Given the description of an element on the screen output the (x, y) to click on. 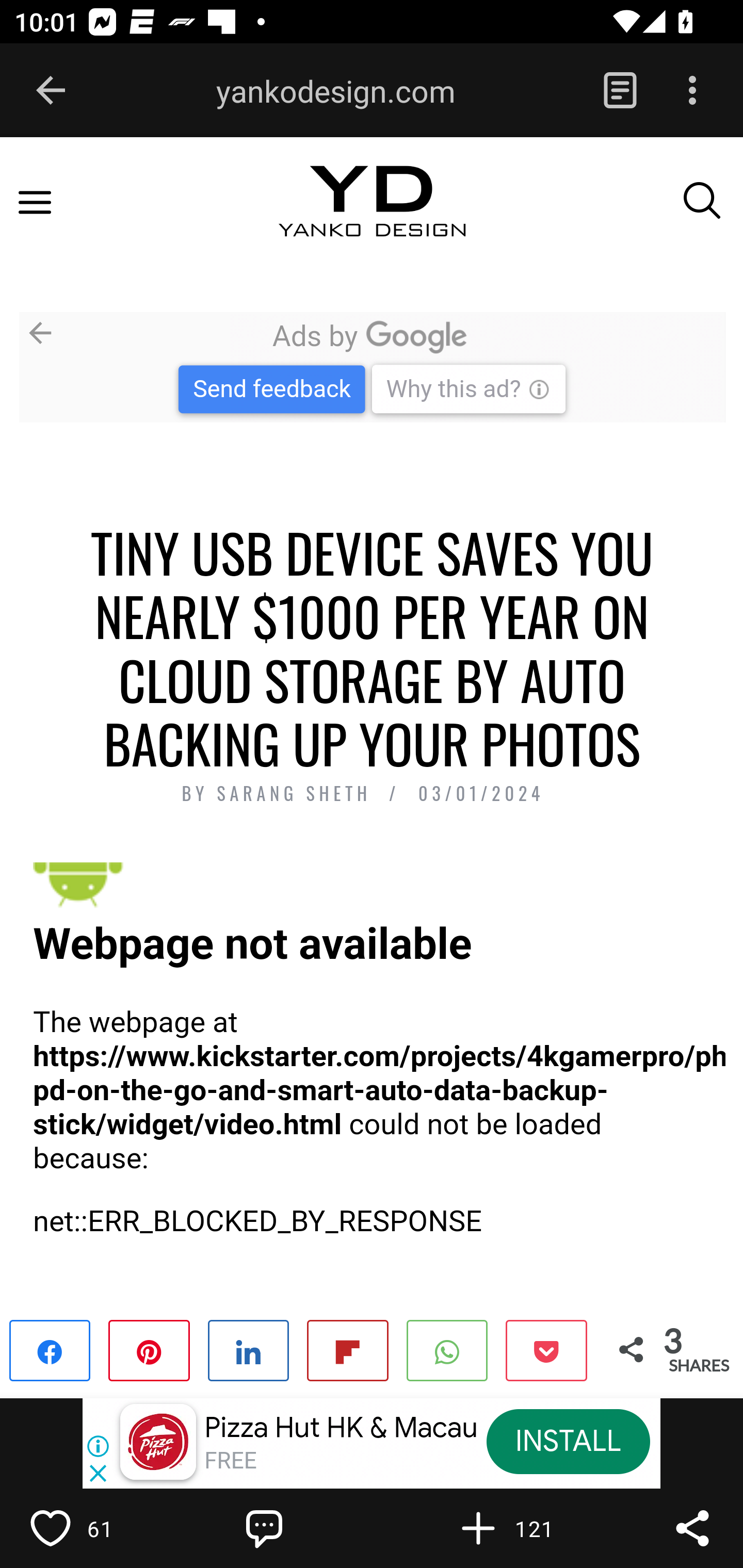
Back (50, 90)
Reader View (619, 90)
Options (692, 90)
Yanko Design - Modern Industrial Design News (371, 218)
Advertisement (371, 366)
SARANG SHETH (298, 794)
k Share k Share (50, 1348)
A Pin A Pin (148, 1348)
s Share s Share (249, 1348)
m Flip m Flip (346, 1348)
T WhatsApp T WhatsApp (447, 1348)
C Pocket C Pocket (545, 1348)
Pizza Hut HK & Macau (340, 1428)
INSTALL (567, 1441)
FREE (230, 1461)
Like 61 (93, 1528)
Write a comment… (307, 1528)
Flip into Magazine 121 (521, 1528)
Share (692, 1528)
